Given the description of an element on the screen output the (x, y) to click on. 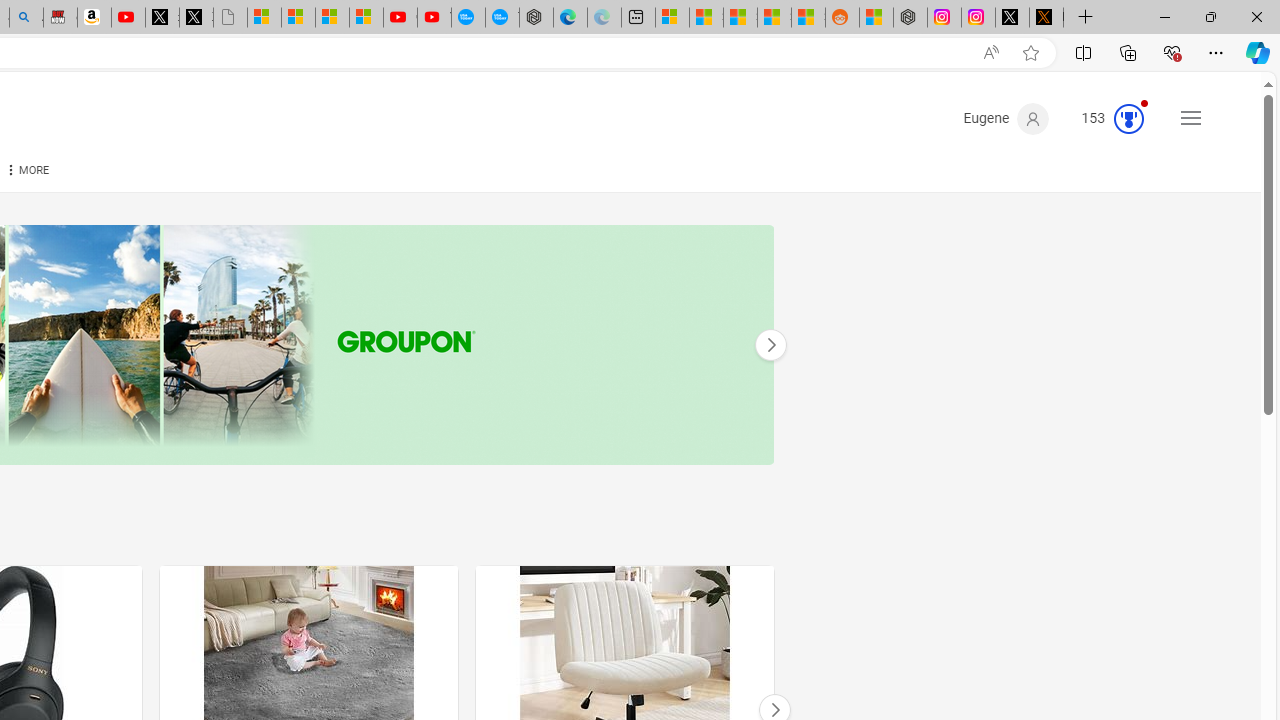
Microsoft Rewards 153 (1105, 119)
Eugene (1005, 119)
Gloom - YouTube (400, 17)
Amazon Echo Dot PNG - Search Images (26, 17)
Nordace - Nordace has arrived Hong Kong (535, 17)
New Tab (1085, 17)
Shanghai, China Weather trends | Microsoft Weather (808, 17)
Settings and quick links (1190, 117)
YouTube Kids - An App Created for Kids to Explore Content (434, 17)
X (196, 17)
Add this page to favorites (Ctrl+D) (1030, 53)
